Given the description of an element on the screen output the (x, y) to click on. 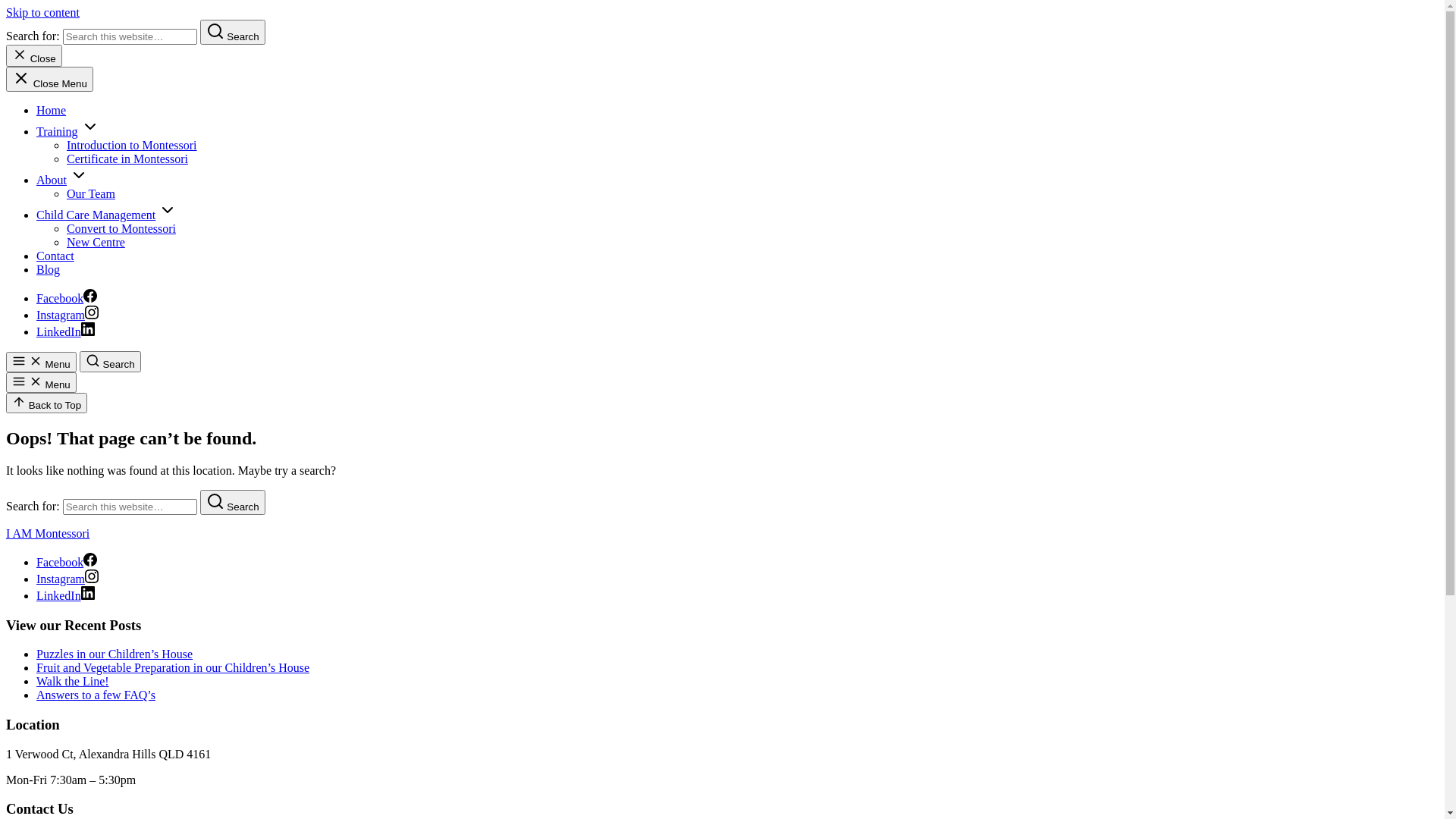
Search for: Element type: hover (129, 506)
LinkedIn Element type: text (65, 595)
Instagram Element type: text (67, 578)
Close Element type: text (34, 55)
Contact Element type: text (55, 255)
Facebook Element type: text (66, 561)
Child Care Management Element type: text (95, 214)
Search Element type: text (232, 31)
Back to Top Element type: text (46, 402)
Facebook Element type: text (66, 297)
Walk the Line! Element type: text (72, 680)
Menu Element type: text (41, 382)
Convert to Montessori Element type: text (120, 228)
Search Element type: text (110, 361)
I AM Montessori Element type: text (47, 533)
Skip to content Element type: text (42, 12)
Search for: Element type: hover (129, 36)
I AM Montessori Element type: text (47, 122)
Certificate in Montessori Element type: text (127, 158)
LinkedIn Element type: text (65, 331)
Search Element type: text (232, 501)
Training Element type: text (57, 131)
Introduction to Montessori Element type: text (131, 144)
New Centre Element type: text (95, 241)
Instagram Element type: text (67, 314)
Our Team Element type: text (90, 193)
About Element type: text (51, 179)
Menu Element type: text (41, 361)
Close Menu Element type: text (49, 78)
Home Element type: text (50, 109)
Blog Element type: text (47, 269)
